Given the description of an element on the screen output the (x, y) to click on. 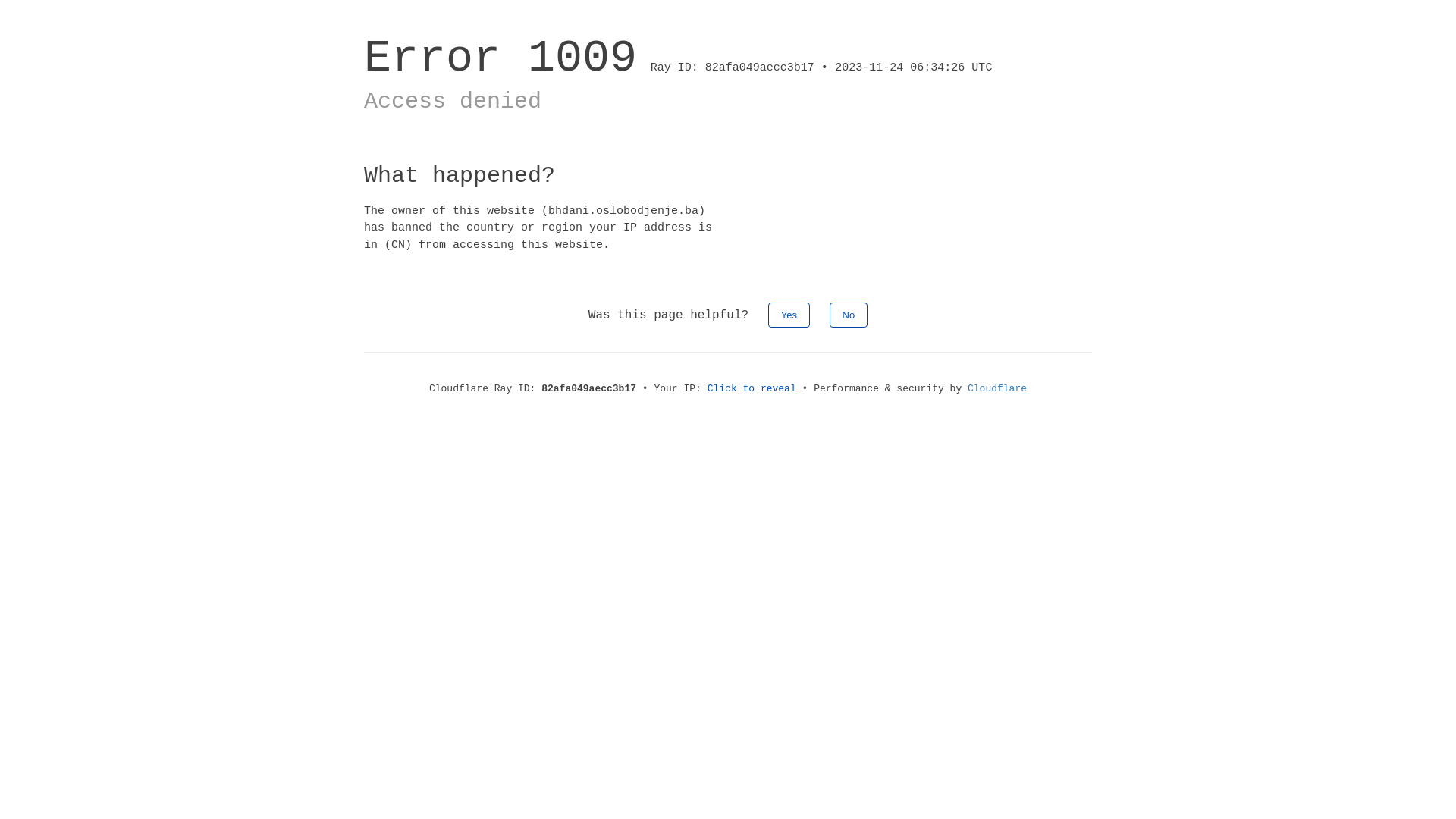
Cloudflare Element type: text (996, 388)
Click to reveal Element type: text (751, 388)
Yes Element type: text (788, 314)
No Element type: text (848, 314)
